Given the description of an element on the screen output the (x, y) to click on. 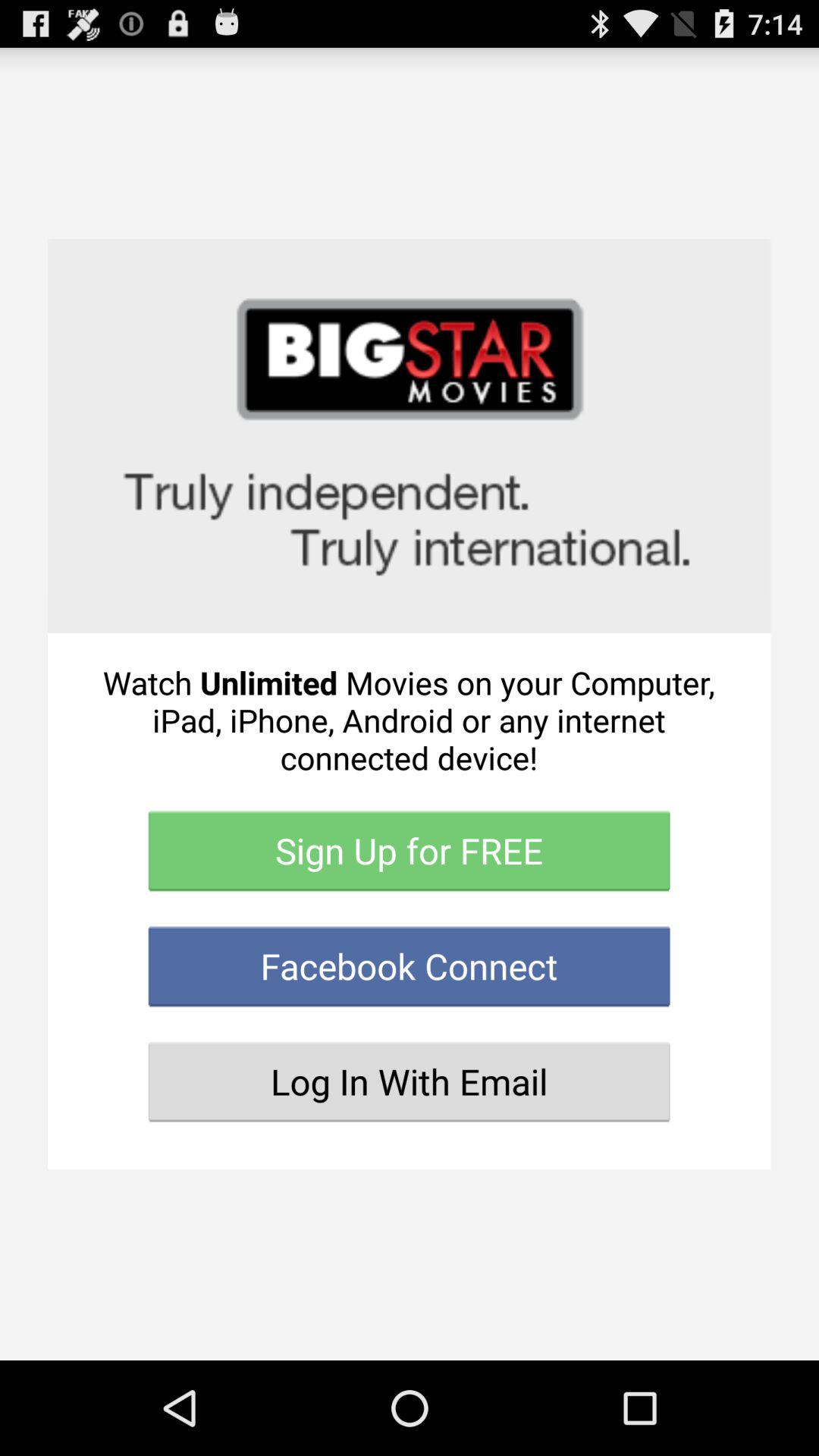
launch icon below the watch unlimited movies (408, 850)
